Given the description of an element on the screen output the (x, y) to click on. 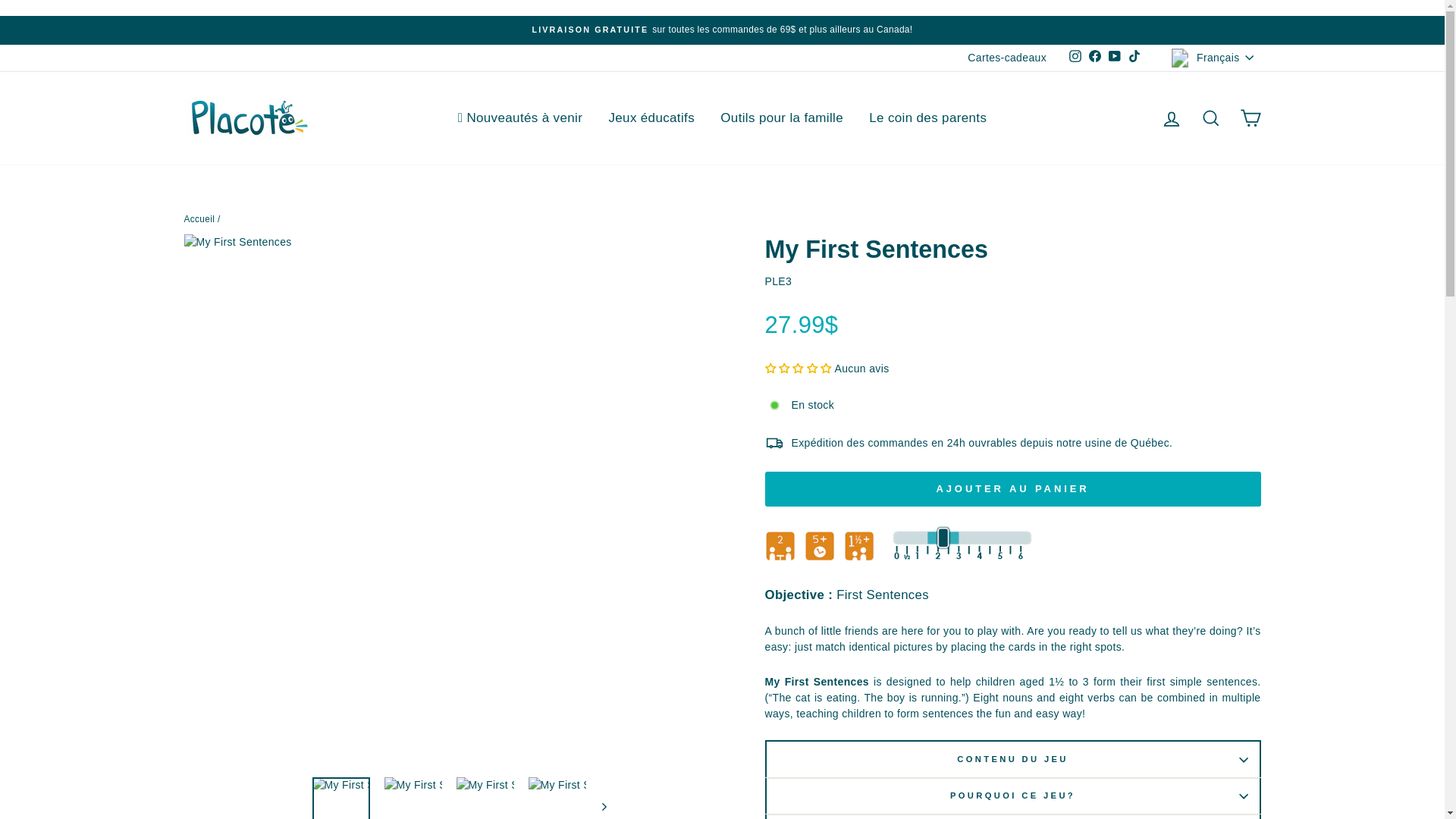
Cartes-cadeaux (1007, 57)
Instagram (1074, 56)
Placote sur TikTok (1134, 56)
Placote sur Facebook (1094, 56)
Facebook (1094, 56)
Placote sur Instagram (1074, 56)
Placote sur YouTube (1114, 56)
